Given the description of an element on the screen output the (x, y) to click on. 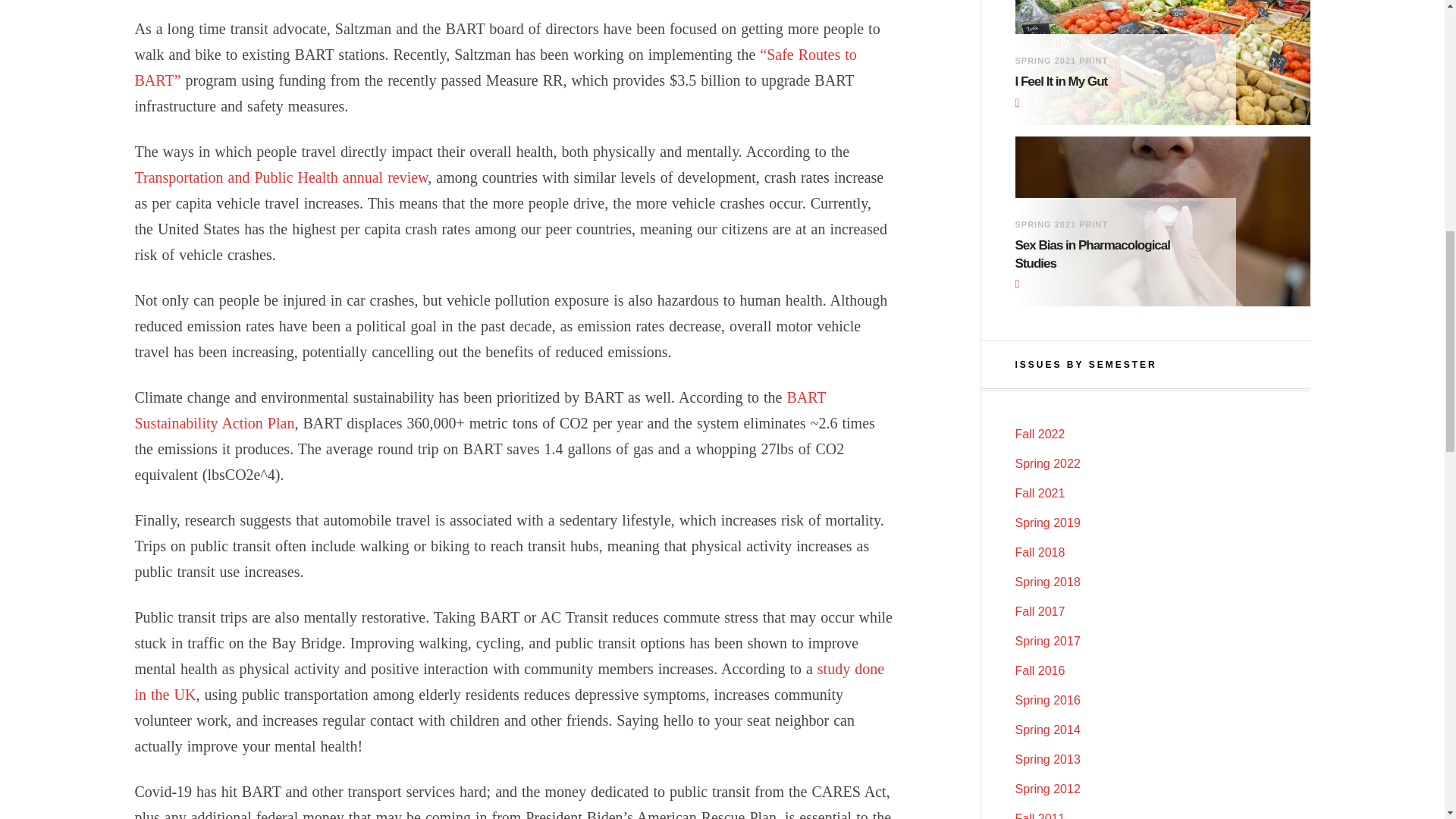
View all posts in Spring 2021 Print (1061, 60)
SPRING 2021 PRINT (1061, 60)
Transportation and Public Health annual review (281, 176)
View all posts in Spring 2021 Print (1061, 224)
BART Sustainability Action Plan (481, 410)
I Feel It in My Gut (1113, 81)
study done in the UK (510, 681)
